Given the description of an element on the screen output the (x, y) to click on. 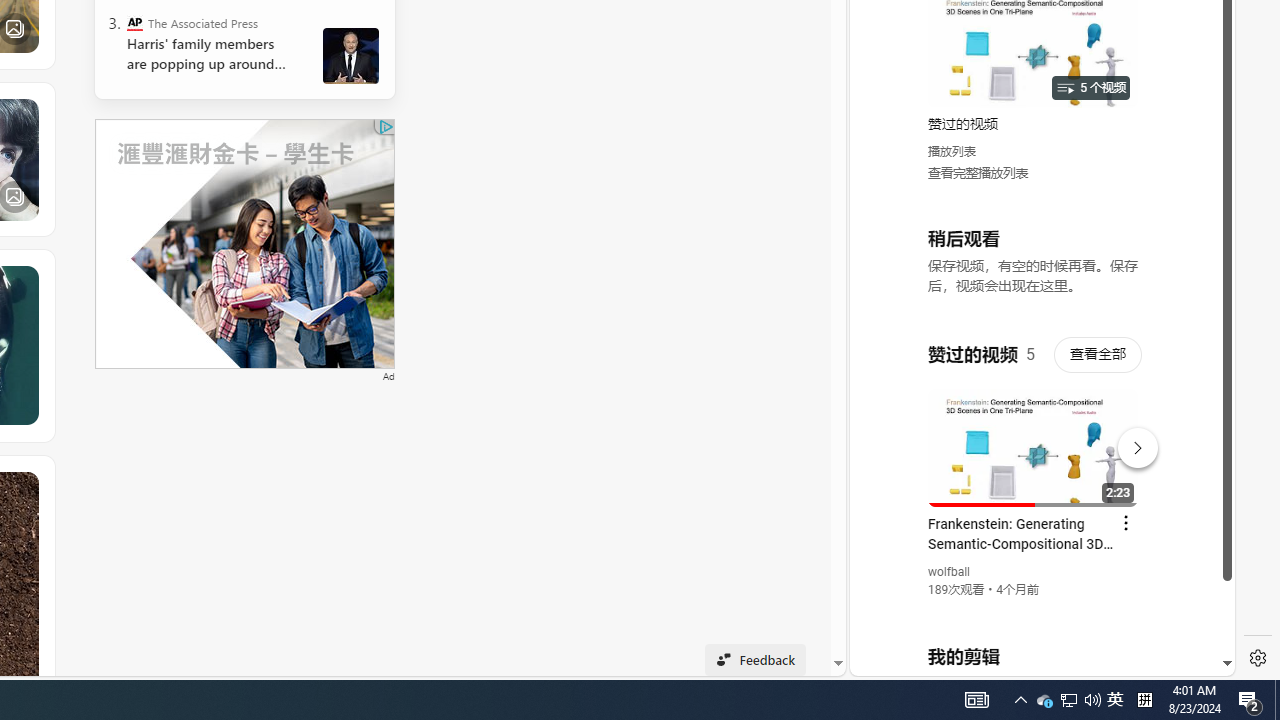
YouTube - YouTube (1034, 266)
#you (1034, 439)
you (1034, 609)
Class: qc-adchoices-link top-right  (385, 125)
AutomationID: canvas (244, 243)
Feedback (755, 659)
The Associated Press (134, 22)
Global web icon (888, 432)
